Given the description of an element on the screen output the (x, y) to click on. 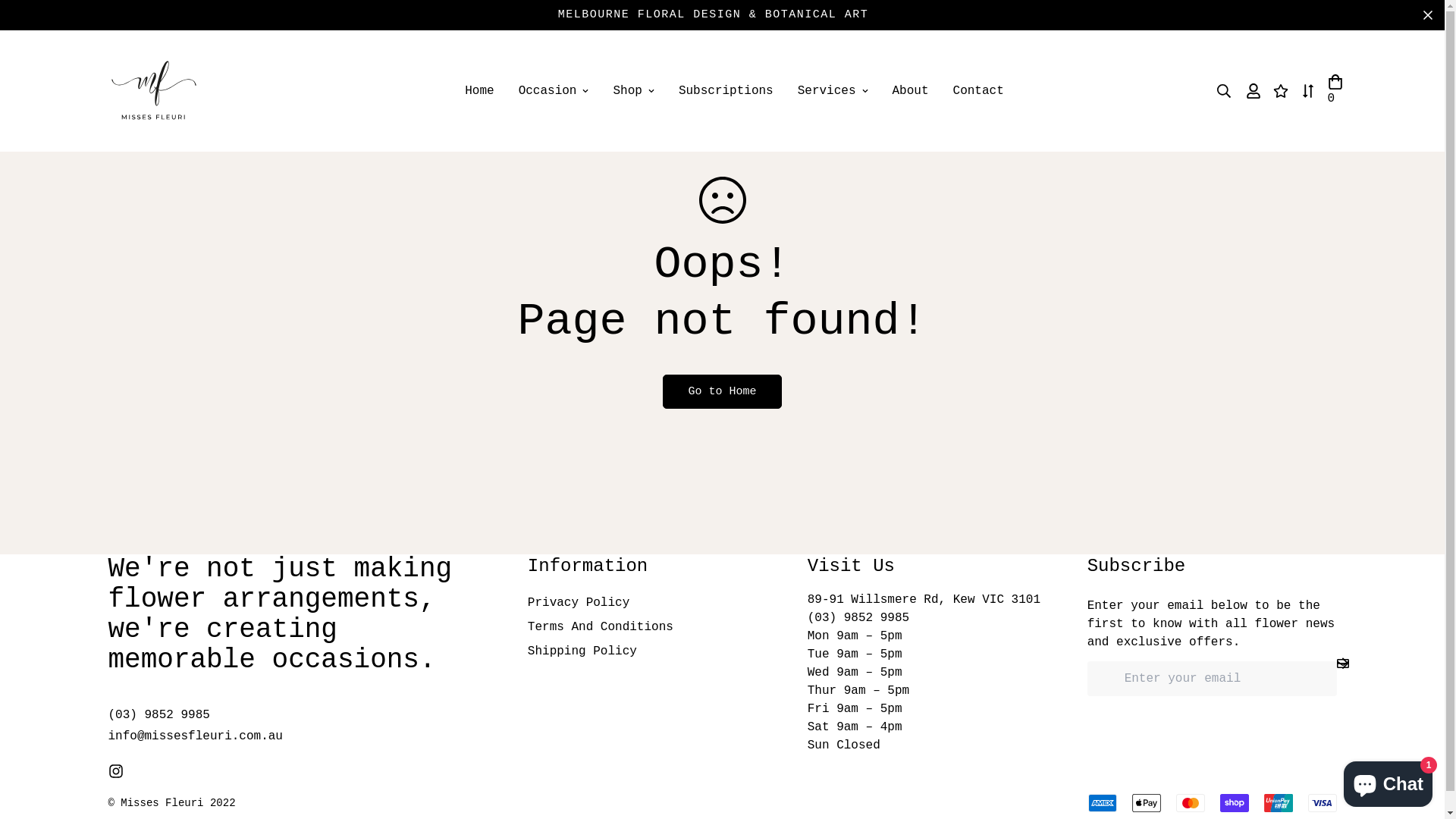
Shipping Policy Element type: text (582, 651)
Shop Element type: text (632, 90)
Misses Fleuri Element type: hover (152, 90)
Shopify online store chat Element type: hover (1388, 780)
About Element type: text (910, 90)
Privacy Policy Element type: text (578, 602)
info@missesfleuri.com.au Element type: text (194, 736)
Occasion Element type: text (553, 90)
(03) 9852 9985 Element type: text (158, 714)
0 Element type: text (1334, 90)
Go to Home Element type: text (721, 391)
Services Element type: text (832, 90)
Contact Element type: text (978, 90)
Home Element type: text (478, 90)
Terms And Conditions Element type: text (600, 627)
Subscriptions Element type: text (725, 90)
(03) 9852 9985 Element type: text (858, 617)
